Given the description of an element on the screen output the (x, y) to click on. 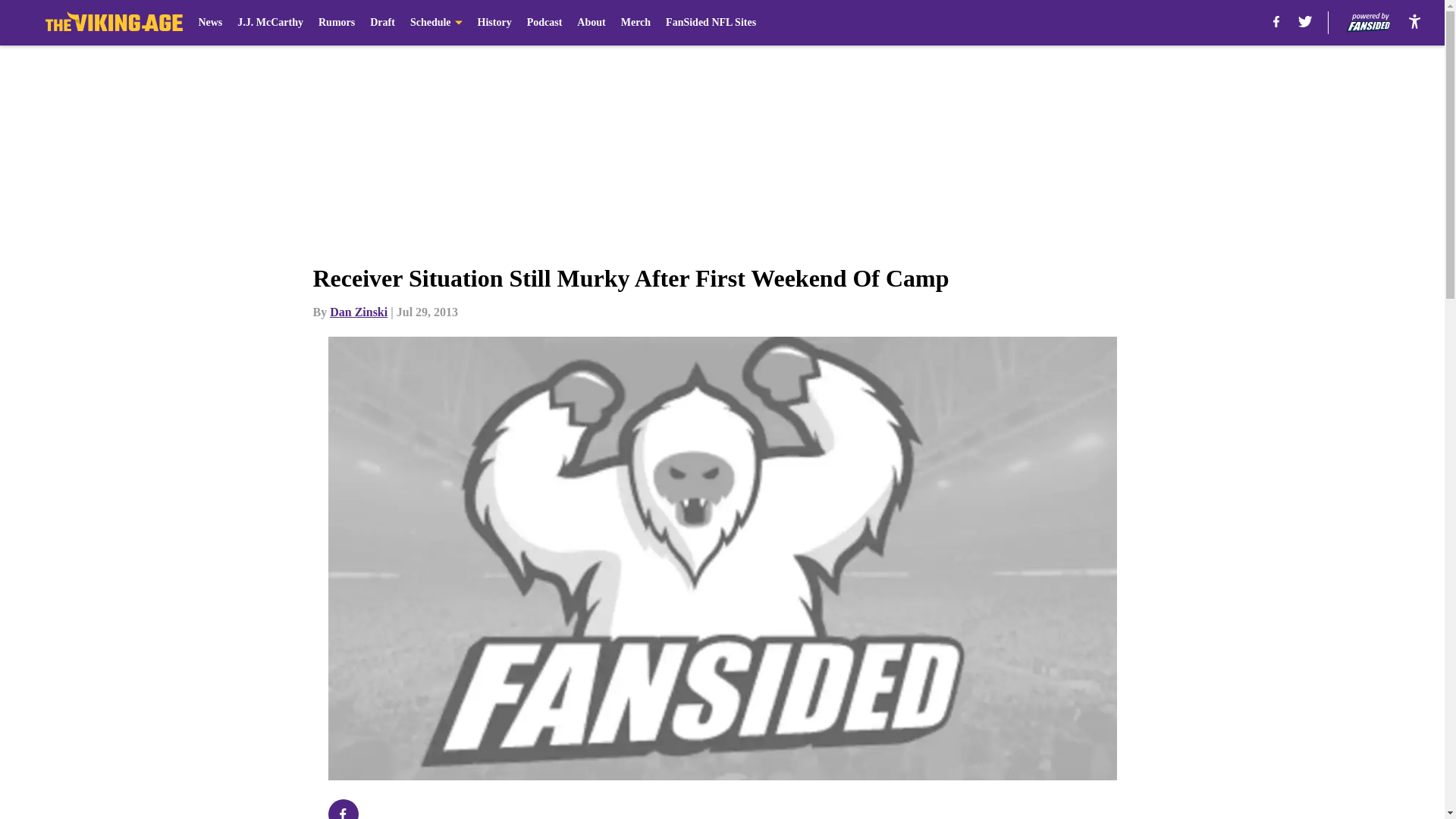
Rumors (336, 22)
Merch (635, 22)
History (494, 22)
J.J. McCarthy (269, 22)
Draft (381, 22)
News (210, 22)
About (590, 22)
Dan Zinski (358, 311)
Podcast (544, 22)
FanSided NFL Sites (710, 22)
